Given the description of an element on the screen output the (x, y) to click on. 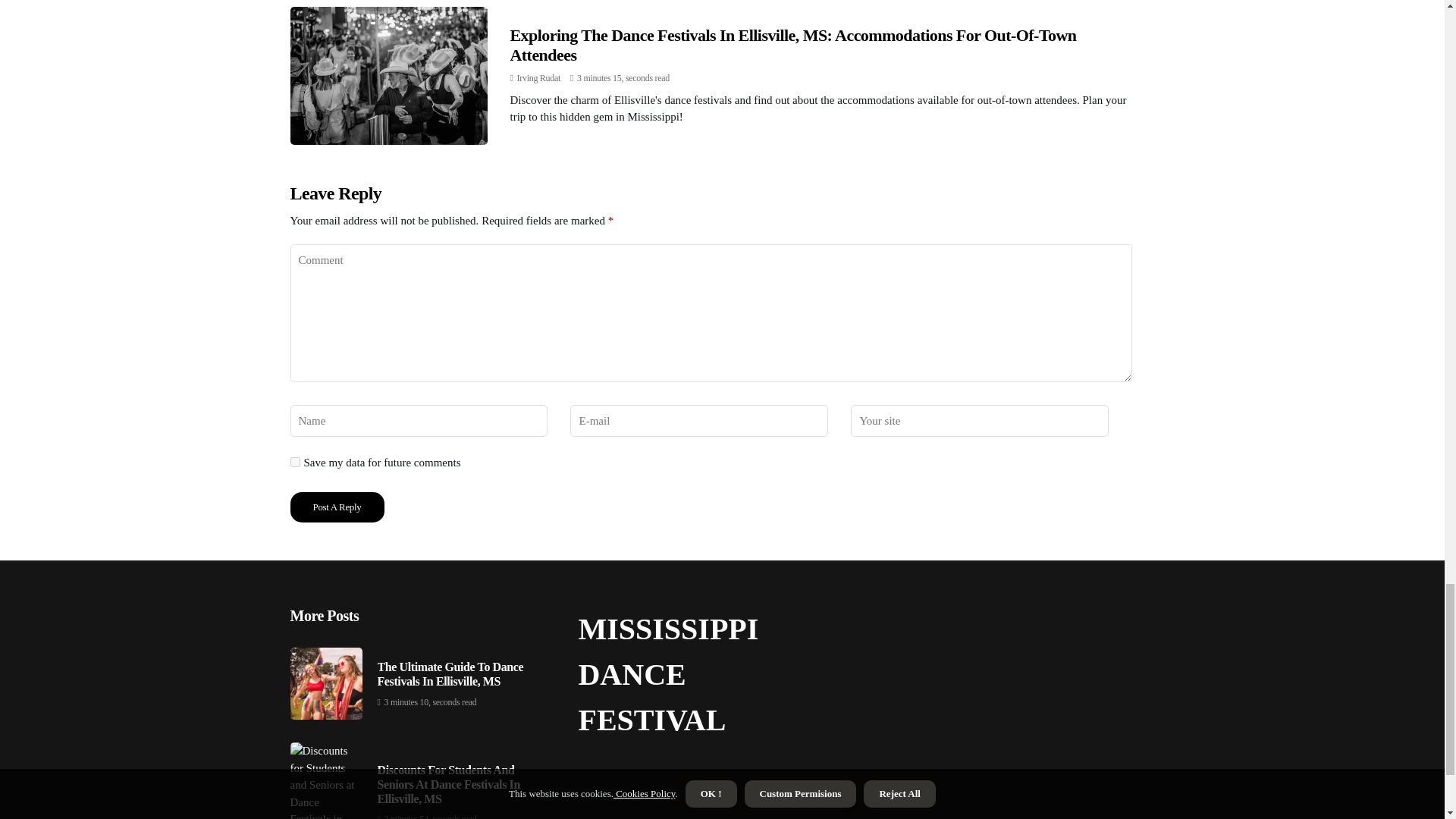
Posts by Irving Rudat (538, 77)
Irving Rudat (538, 77)
Post a Reply (336, 507)
Post a Reply (336, 507)
yes (294, 461)
